Given the description of an element on the screen output the (x, y) to click on. 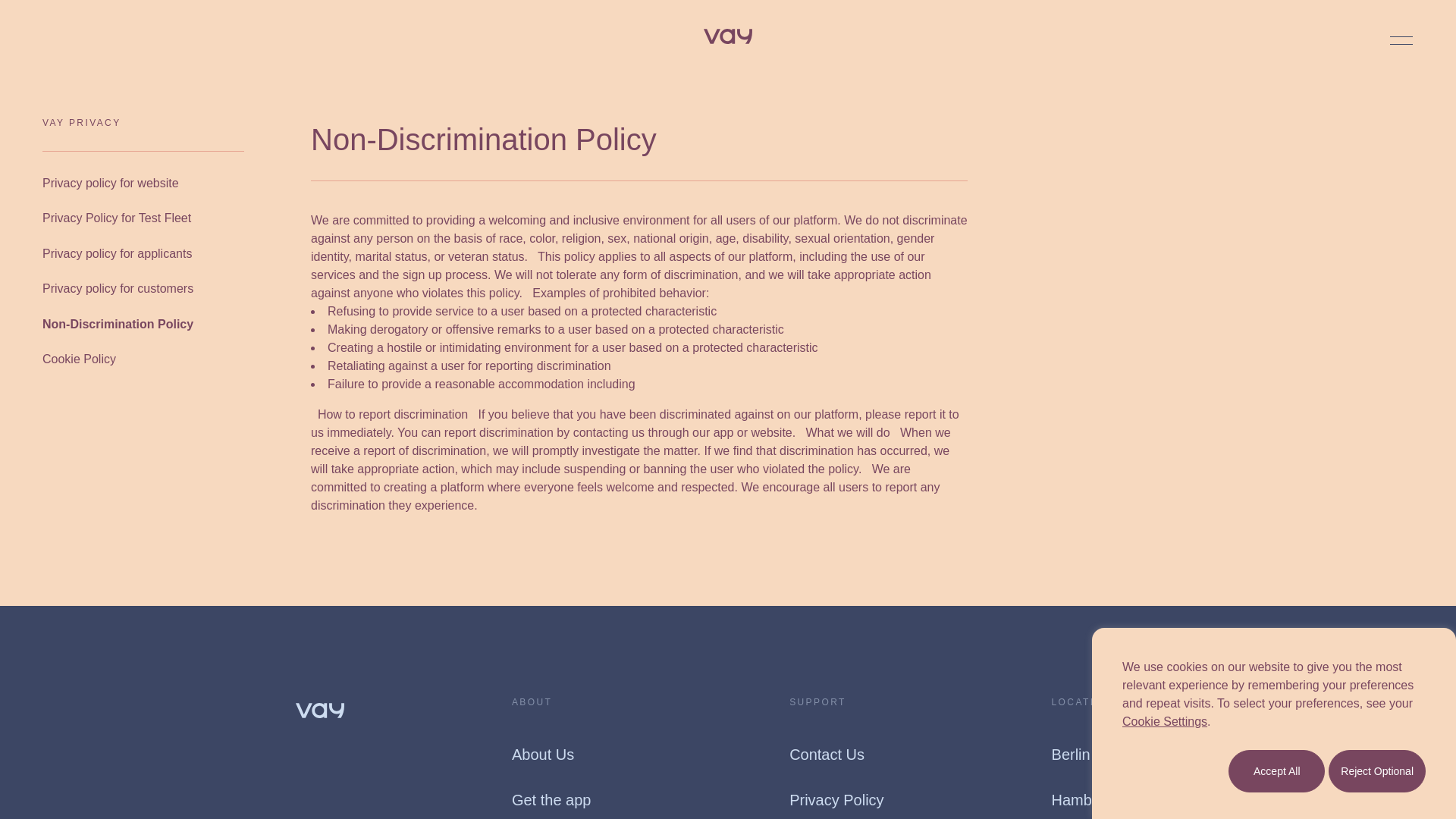
Privacy policy for customers (117, 289)
Privacy policy for website (110, 183)
Privacy policy for applicants (117, 253)
Privacy Policy for Test Fleet (116, 218)
Cookie Policy (79, 359)
Non-Discrimination Policy (117, 324)
